Given the description of an element on the screen output the (x, y) to click on. 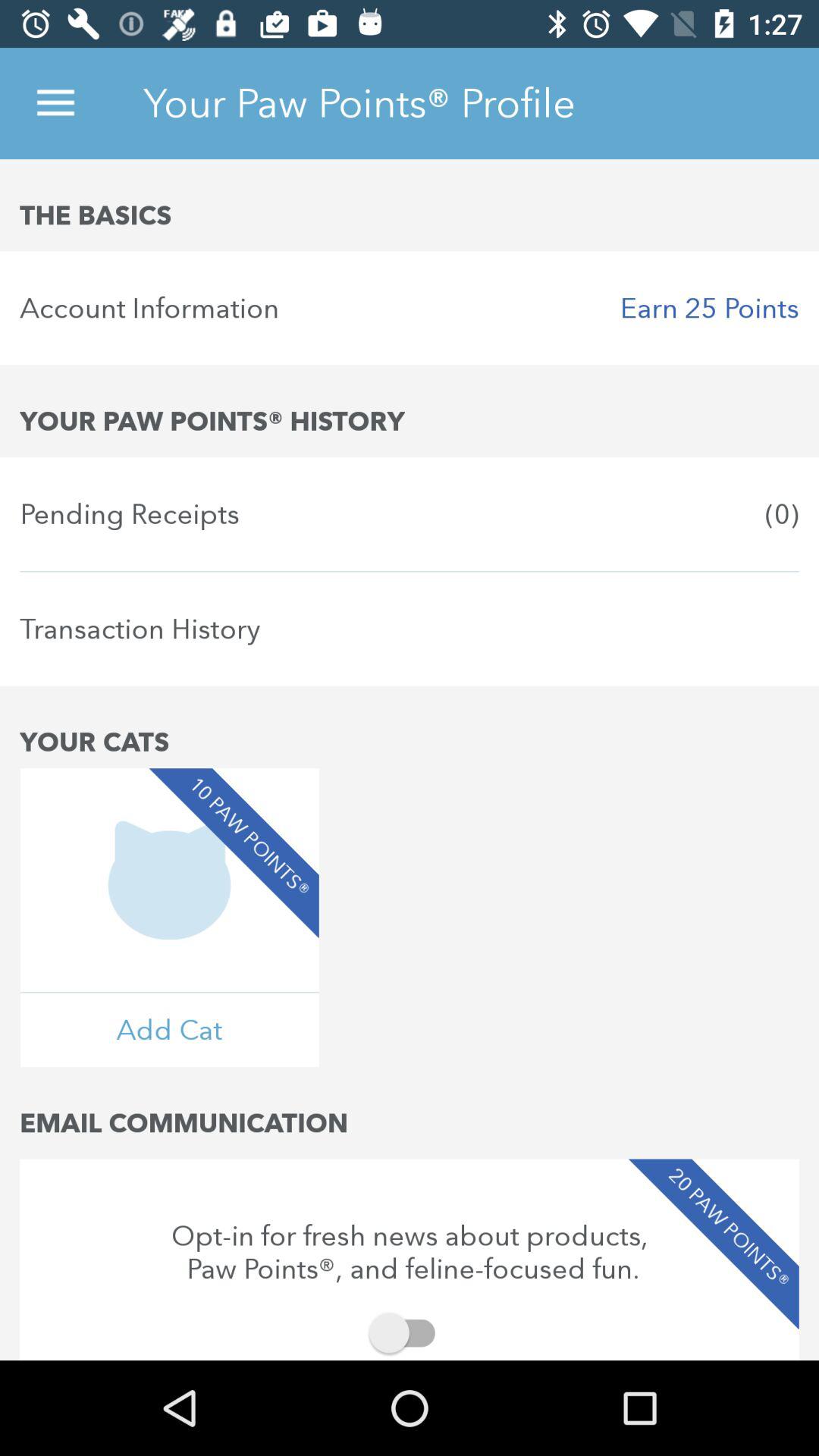
click the item above the your paw points item (409, 308)
